Given the description of an element on the screen output the (x, y) to click on. 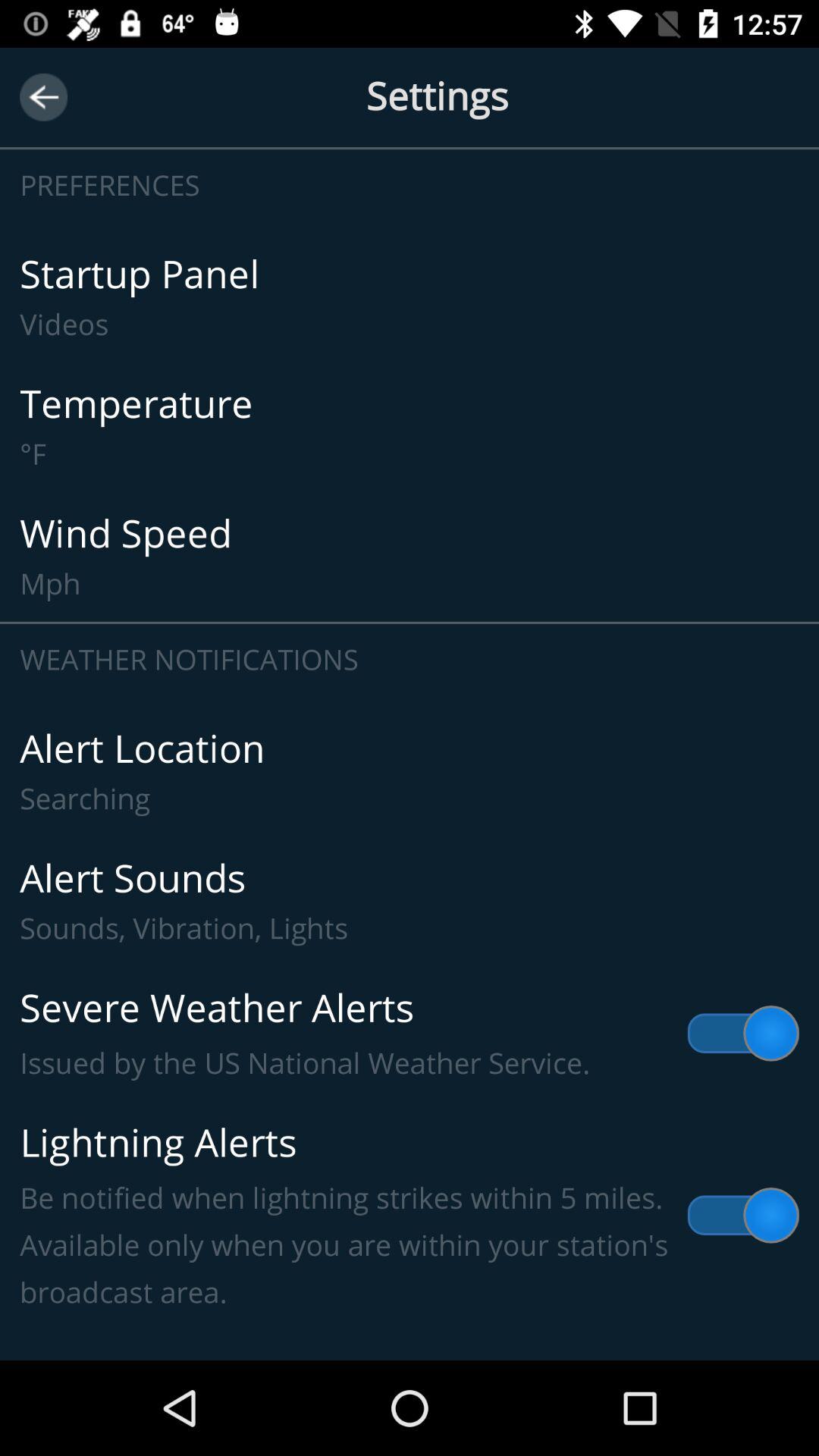
select the item above the alert sounds sounds item (409, 771)
